Given the description of an element on the screen output the (x, y) to click on. 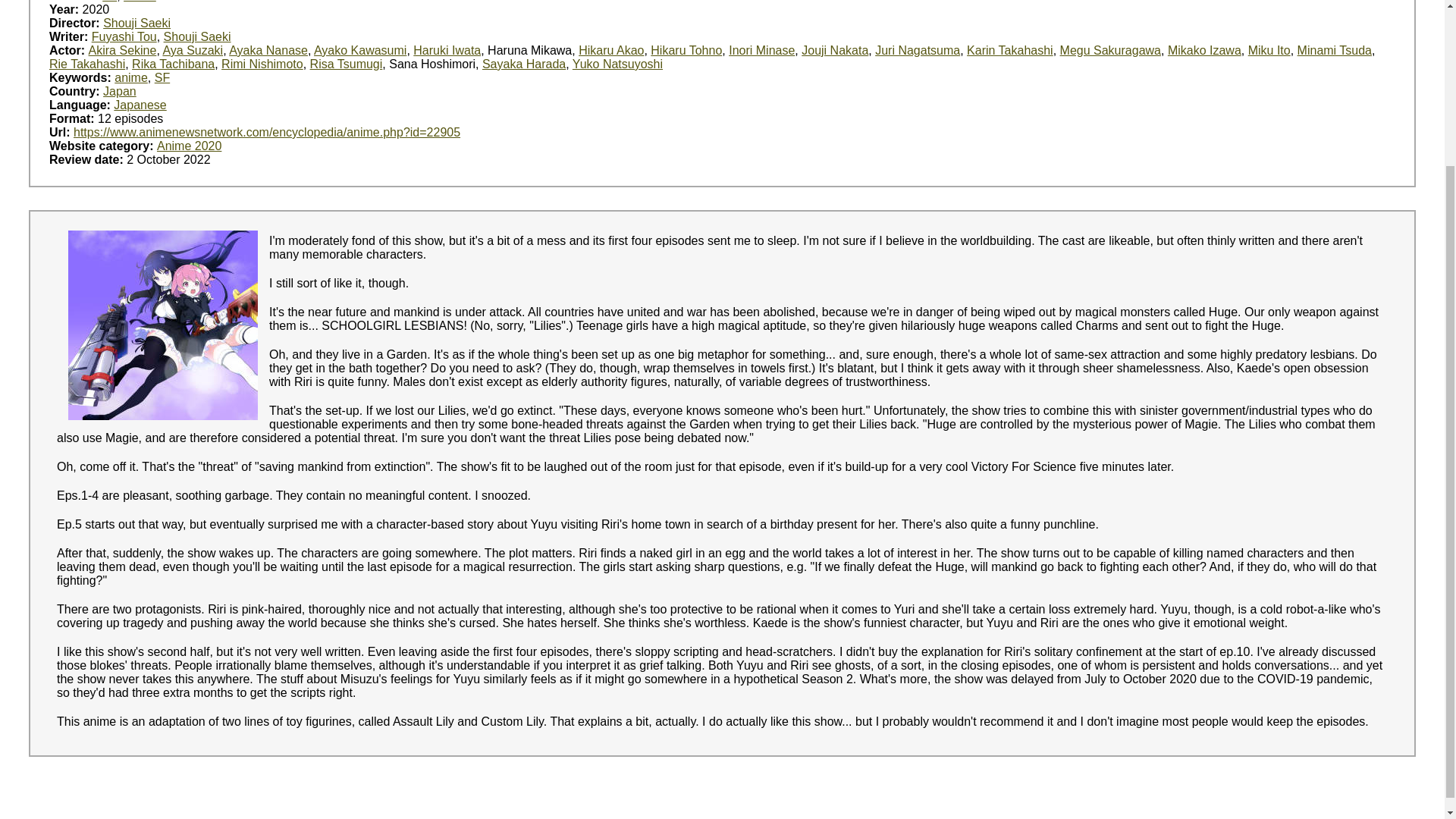
Aya Suzaki (191, 50)
Juri Nagatsuma (917, 50)
Fuyashi Tou (124, 36)
Megu Sakuragawa (1109, 50)
Rie Takahashi (87, 63)
Ayaka Nanase (267, 50)
Miku Ito (1268, 50)
series (139, 1)
Sayaka Harada (523, 63)
TV (108, 1)
